Given the description of an element on the screen output the (x, y) to click on. 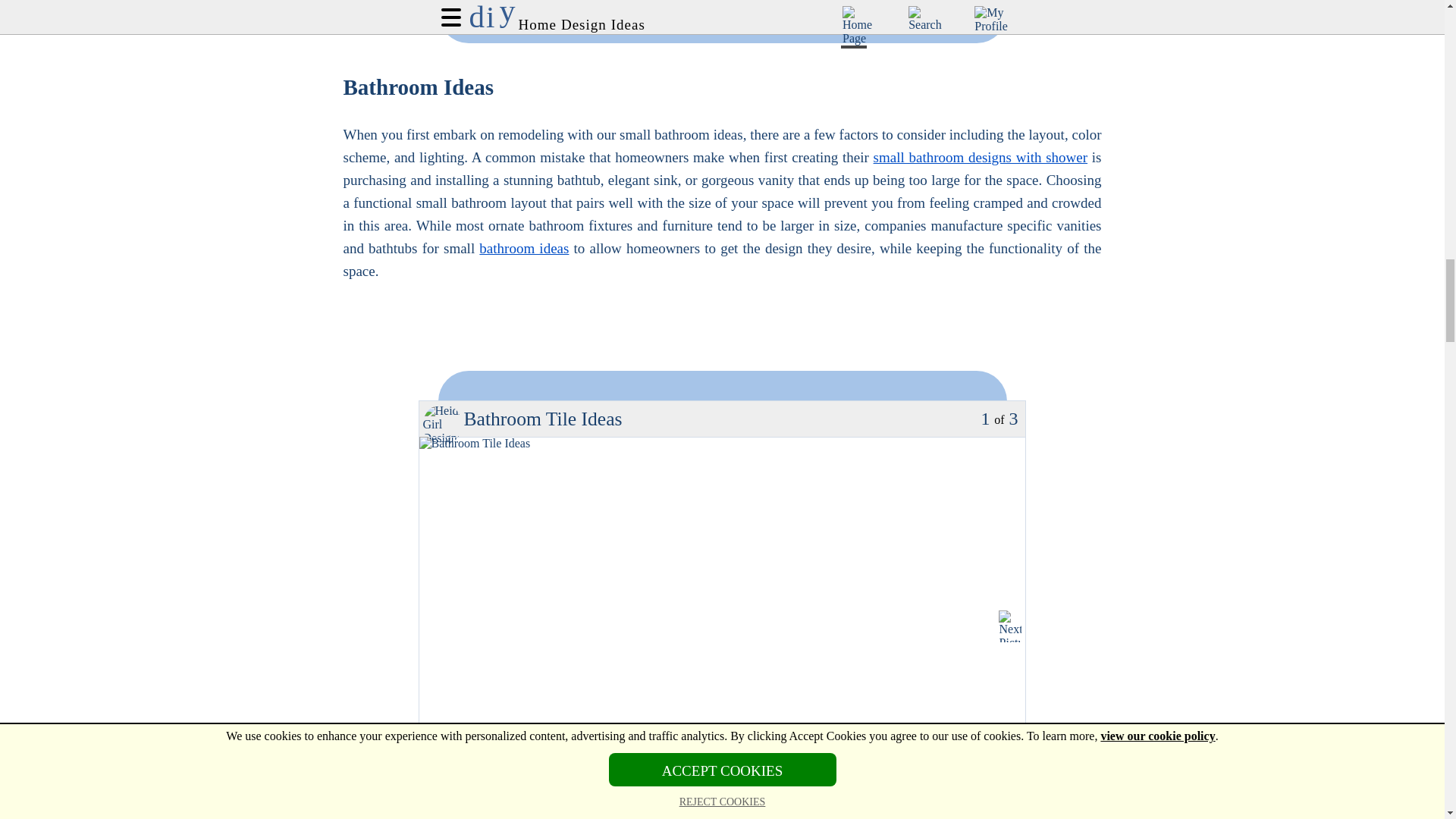
small bathroom designs with shower (980, 157)
bathroom ideas (524, 248)
